Given the description of an element on the screen output the (x, y) to click on. 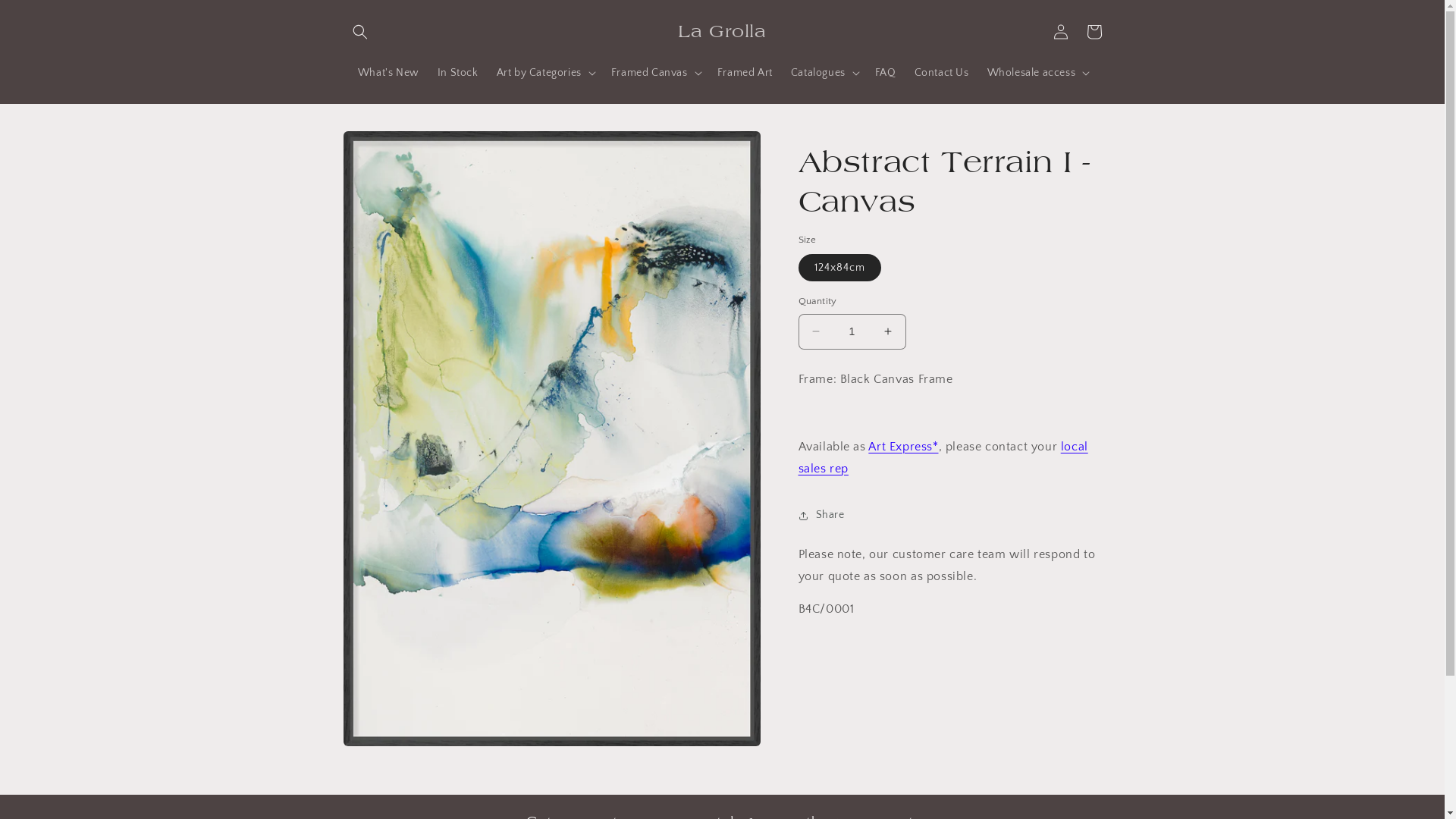
What's New Element type: text (388, 71)
Framed Art Element type: text (744, 71)
FAQ Element type: text (885, 71)
Decrease quantity for Abstract Terrain I - Canvas Element type: text (816, 331)
La Grolla Element type: text (721, 31)
Log in Element type: text (1059, 31)
Contact Us Element type: text (941, 71)
In Stock Element type: text (457, 71)
Increase quantity for Abstract Terrain I - Canvas Element type: text (887, 331)
Cart Element type: text (1093, 31)
Art Express* Element type: text (903, 446)
local sales rep Element type: text (942, 457)
Skip to product information Element type: text (387, 147)
